Given the description of an element on the screen output the (x, y) to click on. 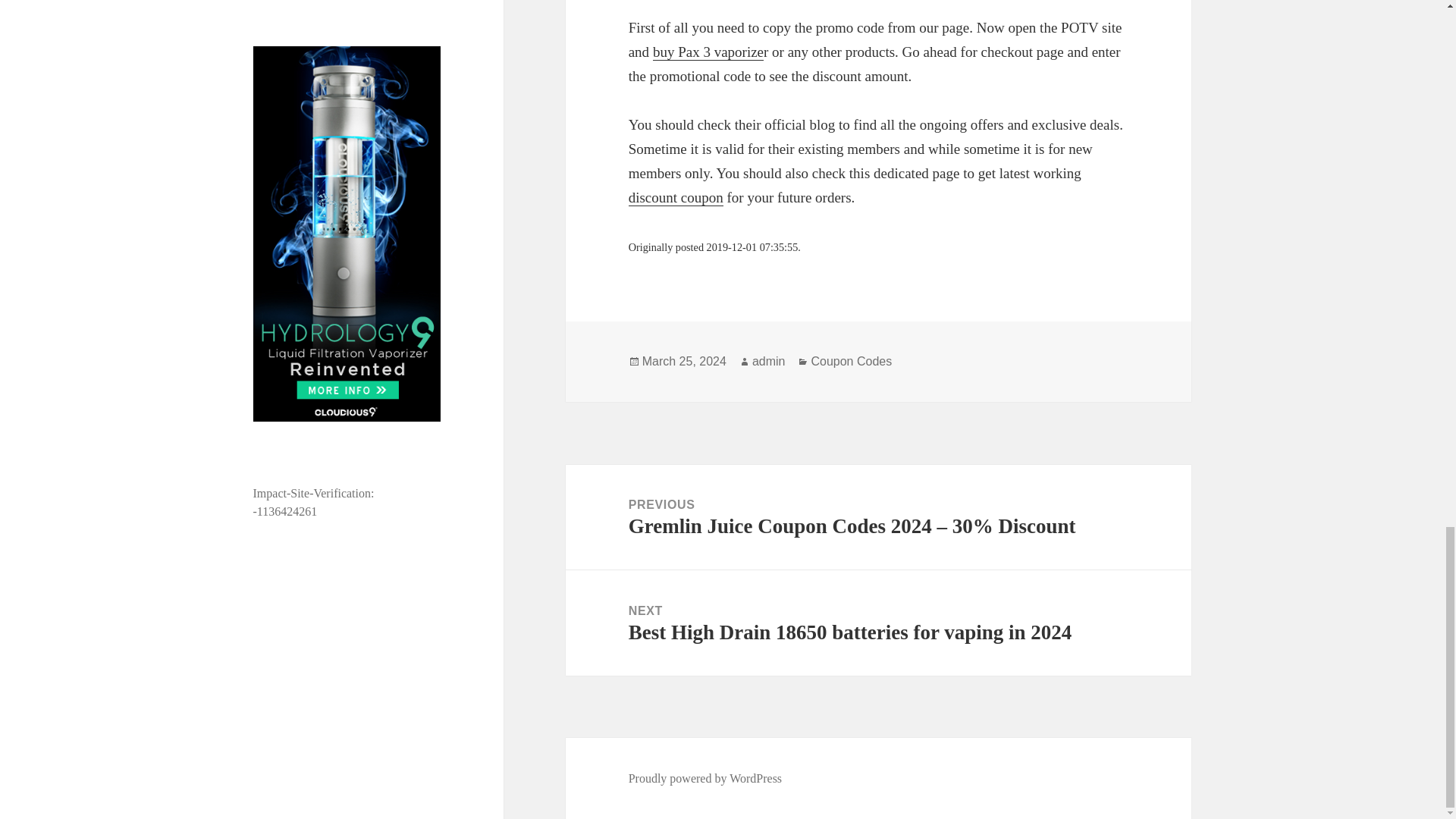
March 25, 2024 (684, 361)
admin (769, 361)
Coupon Codes (850, 361)
discount coupon (675, 197)
Proudly powered by WordPress (704, 778)
buy Pax 3 vaporize (707, 52)
